Given the description of an element on the screen output the (x, y) to click on. 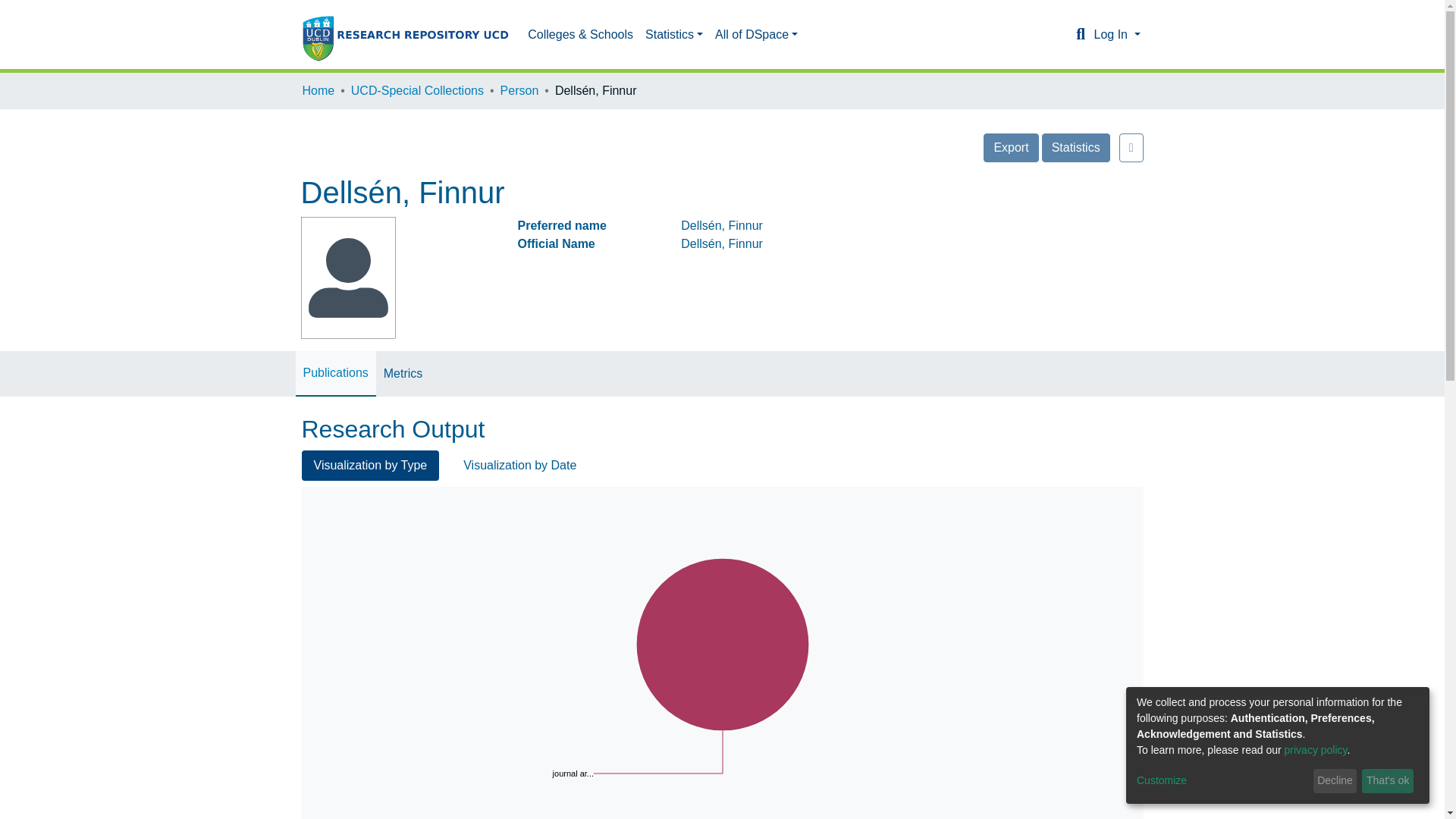
Metrics (402, 373)
Statistics (1075, 147)
Visualization by Date (519, 465)
Publications (335, 372)
Home (317, 90)
Log In (1116, 33)
Visualization by Type (370, 465)
Metrics (402, 373)
Statistics (674, 34)
Export (756, 34)
Search (1011, 147)
Publications (1080, 34)
UCD-Special Collections (335, 372)
